Given the description of an element on the screen output the (x, y) to click on. 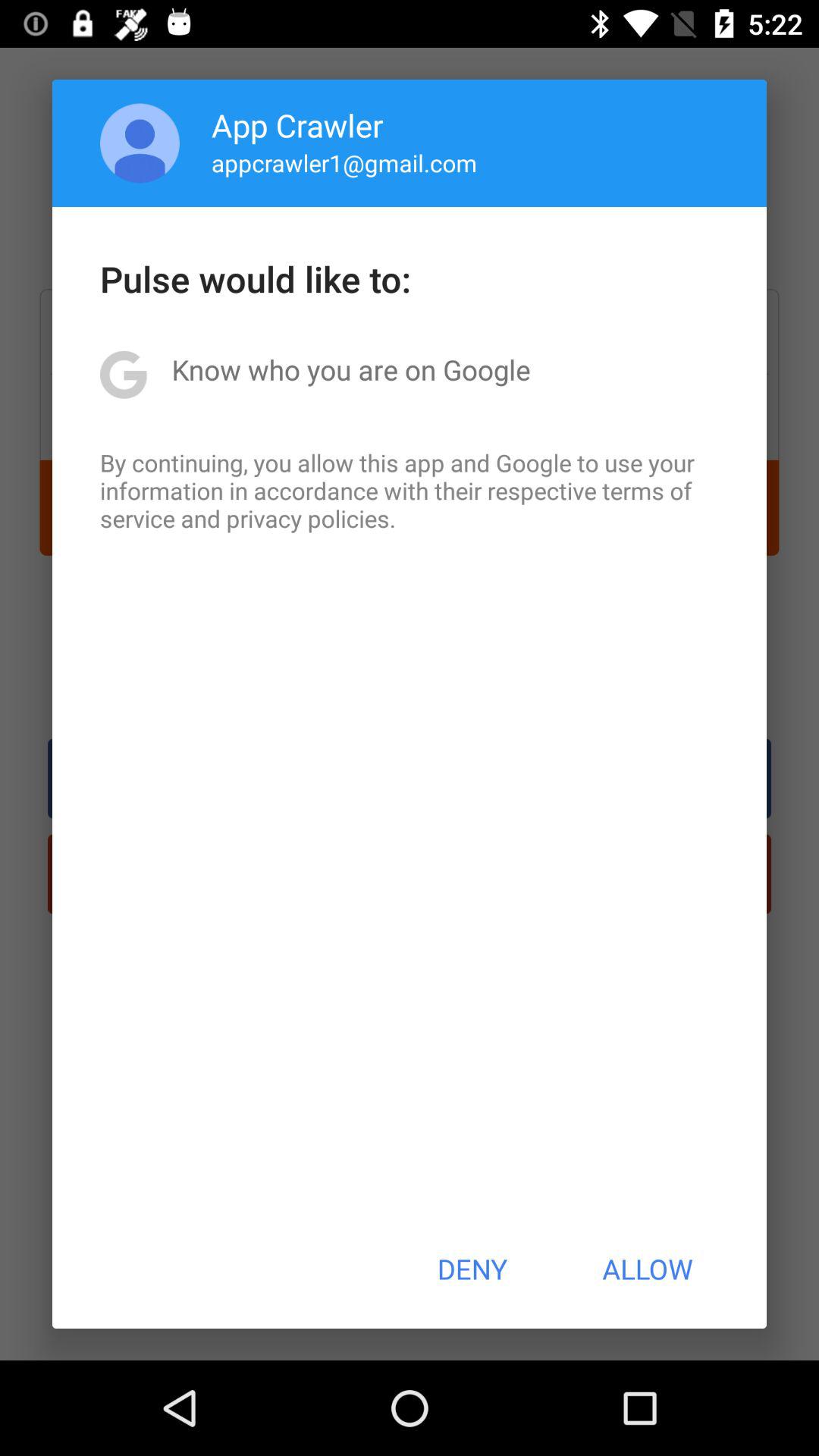
jump to the deny icon (471, 1268)
